Given the description of an element on the screen output the (x, y) to click on. 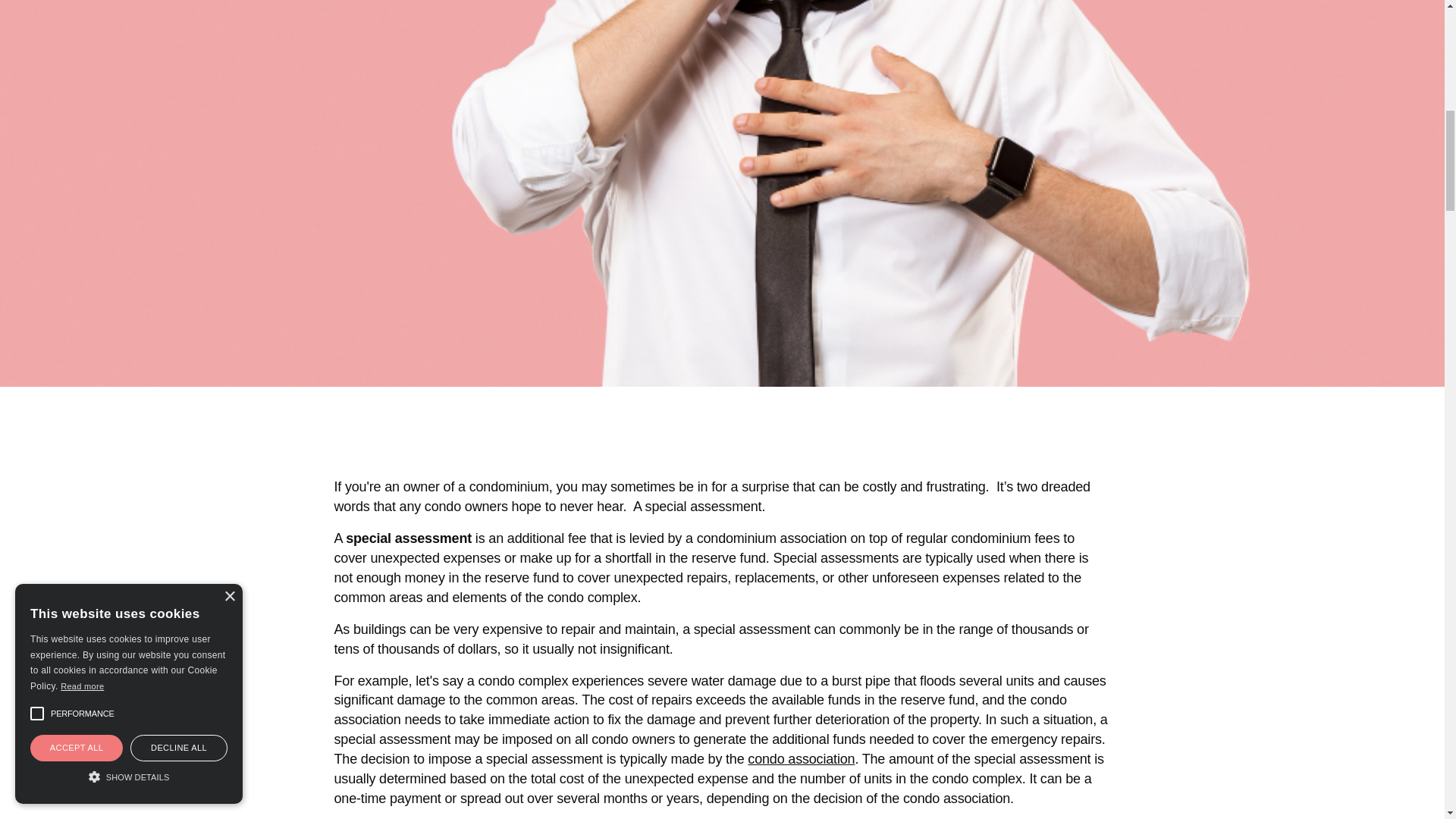
condo association (801, 758)
